Given the description of an element on the screen output the (x, y) to click on. 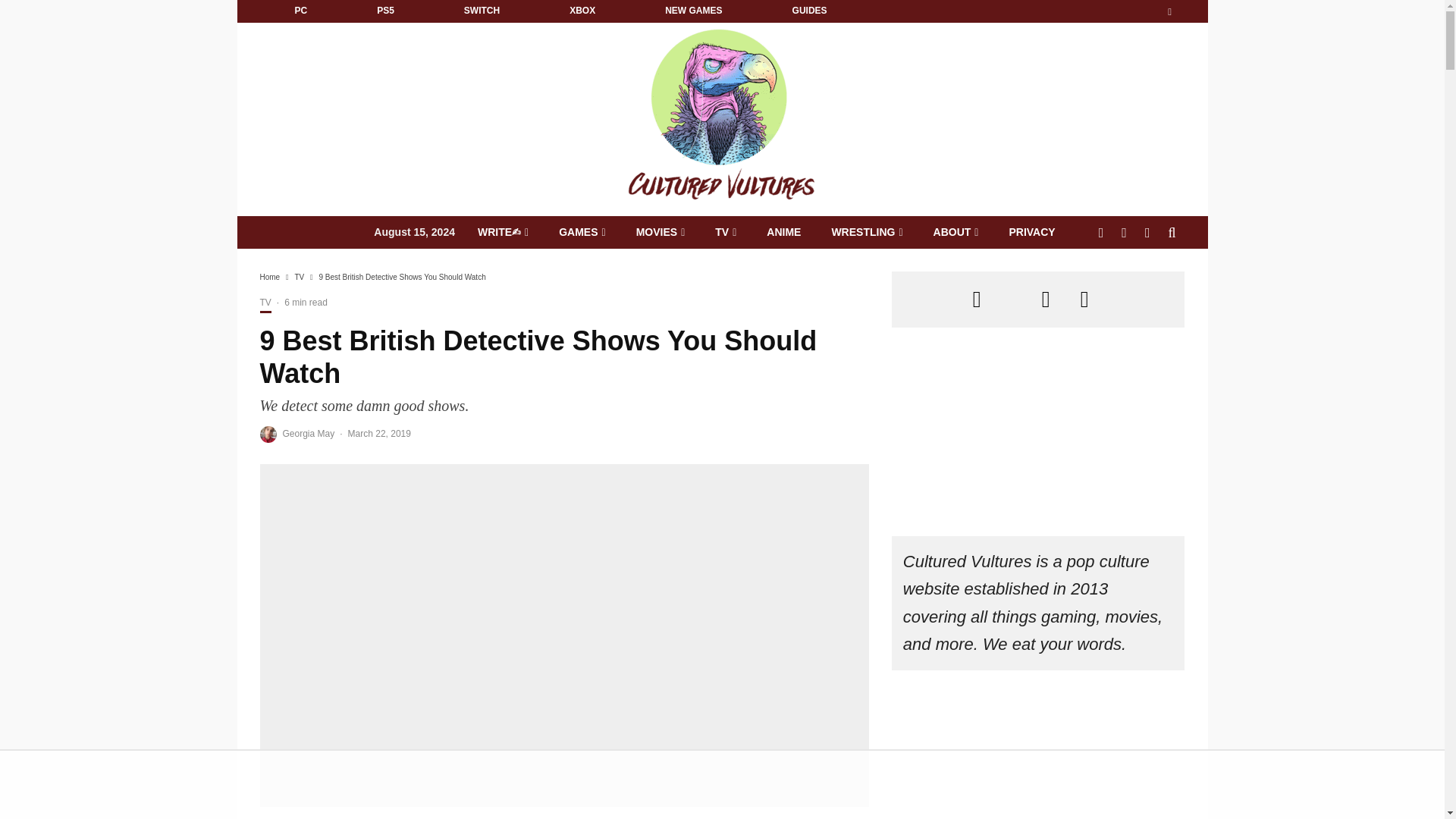
Switch News (481, 11)
Video Game Guides (809, 11)
PC (300, 11)
New Games Coming Out (693, 11)
GUIDES (809, 11)
SWITCH (481, 11)
GAMES (581, 232)
PS5 News (385, 11)
XBOX (582, 11)
NEW GAMES (693, 11)
